Given the description of an element on the screen output the (x, y) to click on. 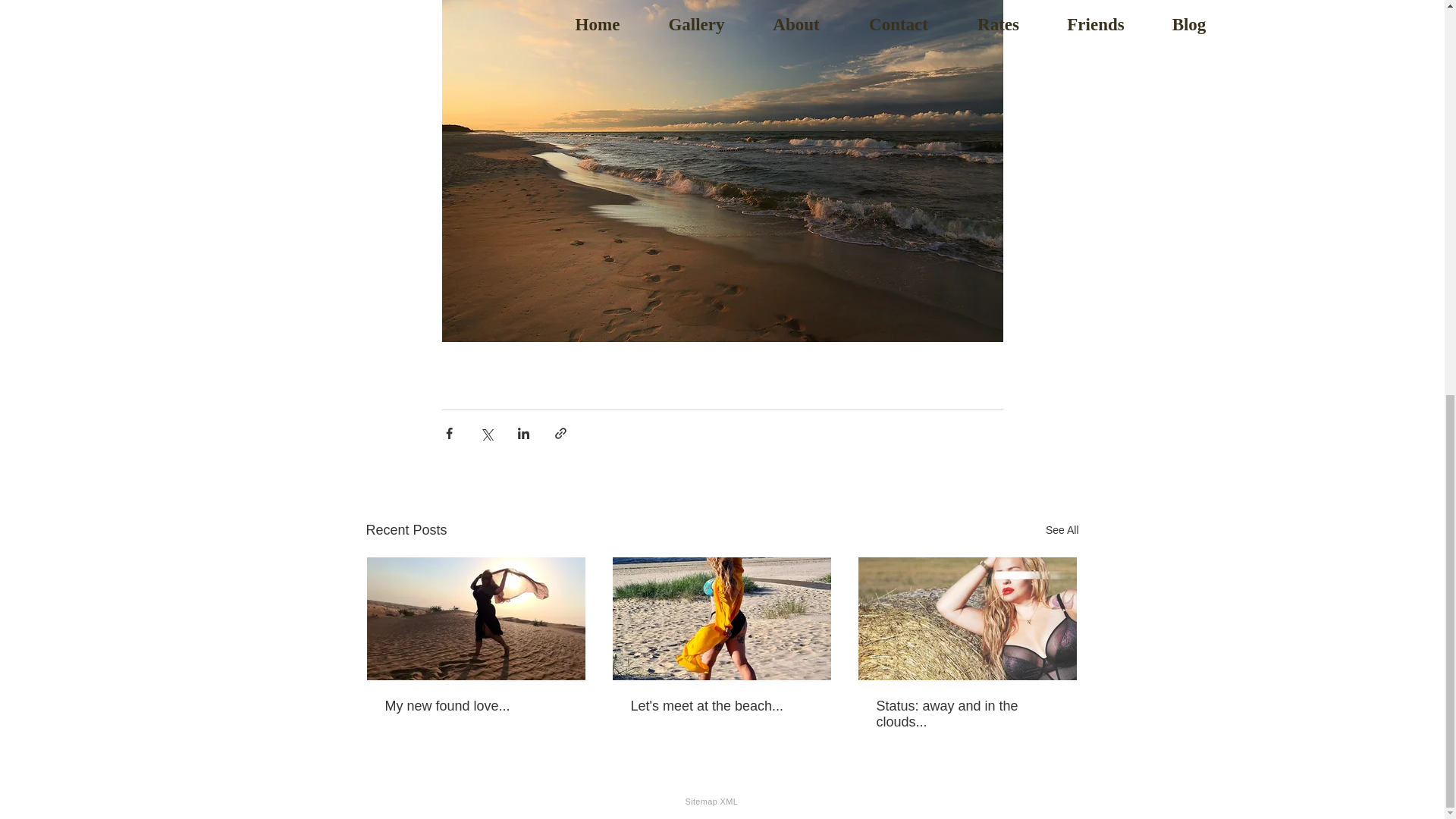
See All (1061, 530)
Sitemap XML (711, 800)
My new found love... (476, 706)
Status: away and in the clouds... (967, 714)
Let's meet at the beach... (721, 706)
